Given the description of an element on the screen output the (x, y) to click on. 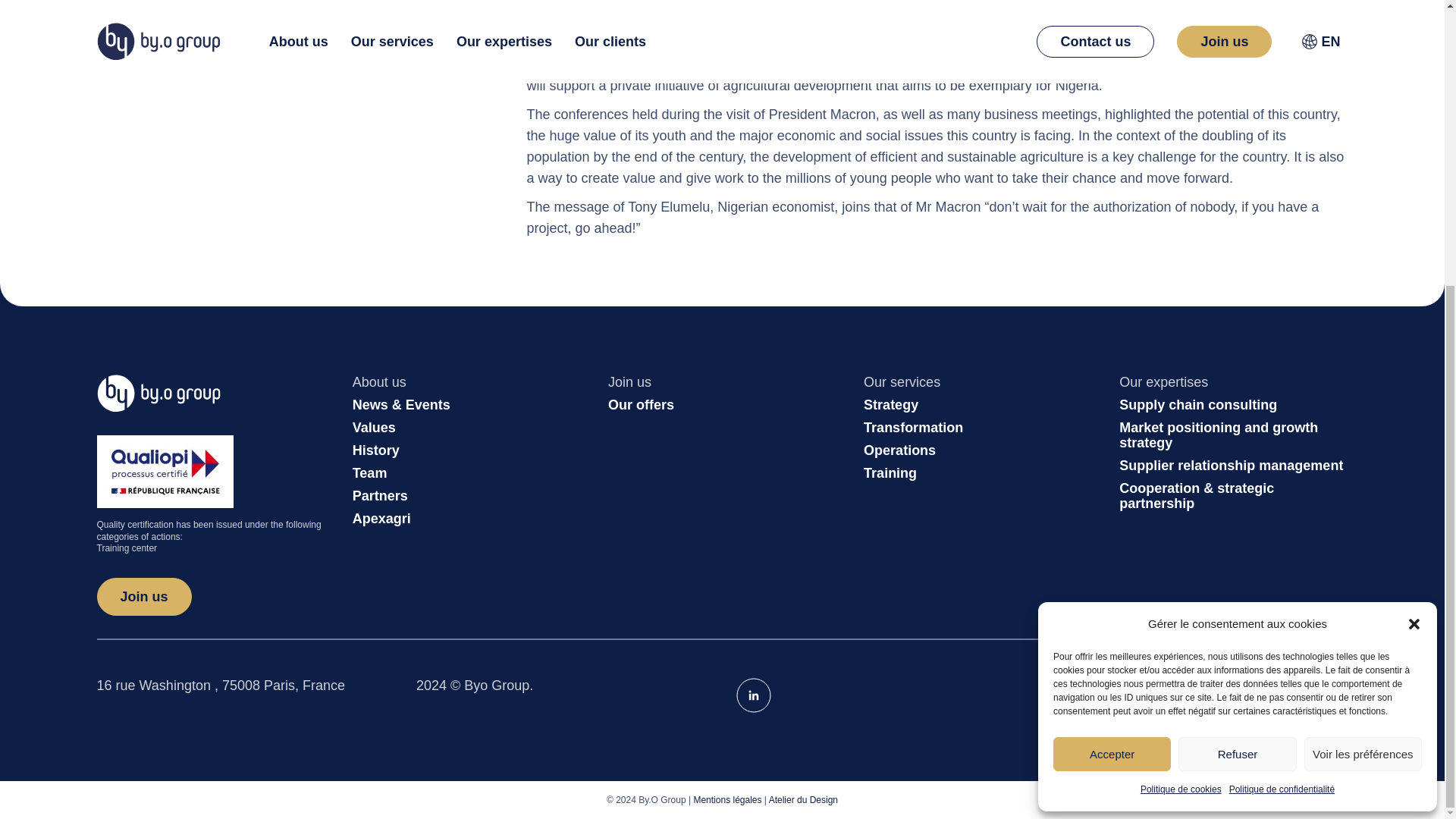
Accepter (1111, 322)
Politique de cookies (1180, 357)
Refuser (1236, 322)
